Given the description of an element on the screen output the (x, y) to click on. 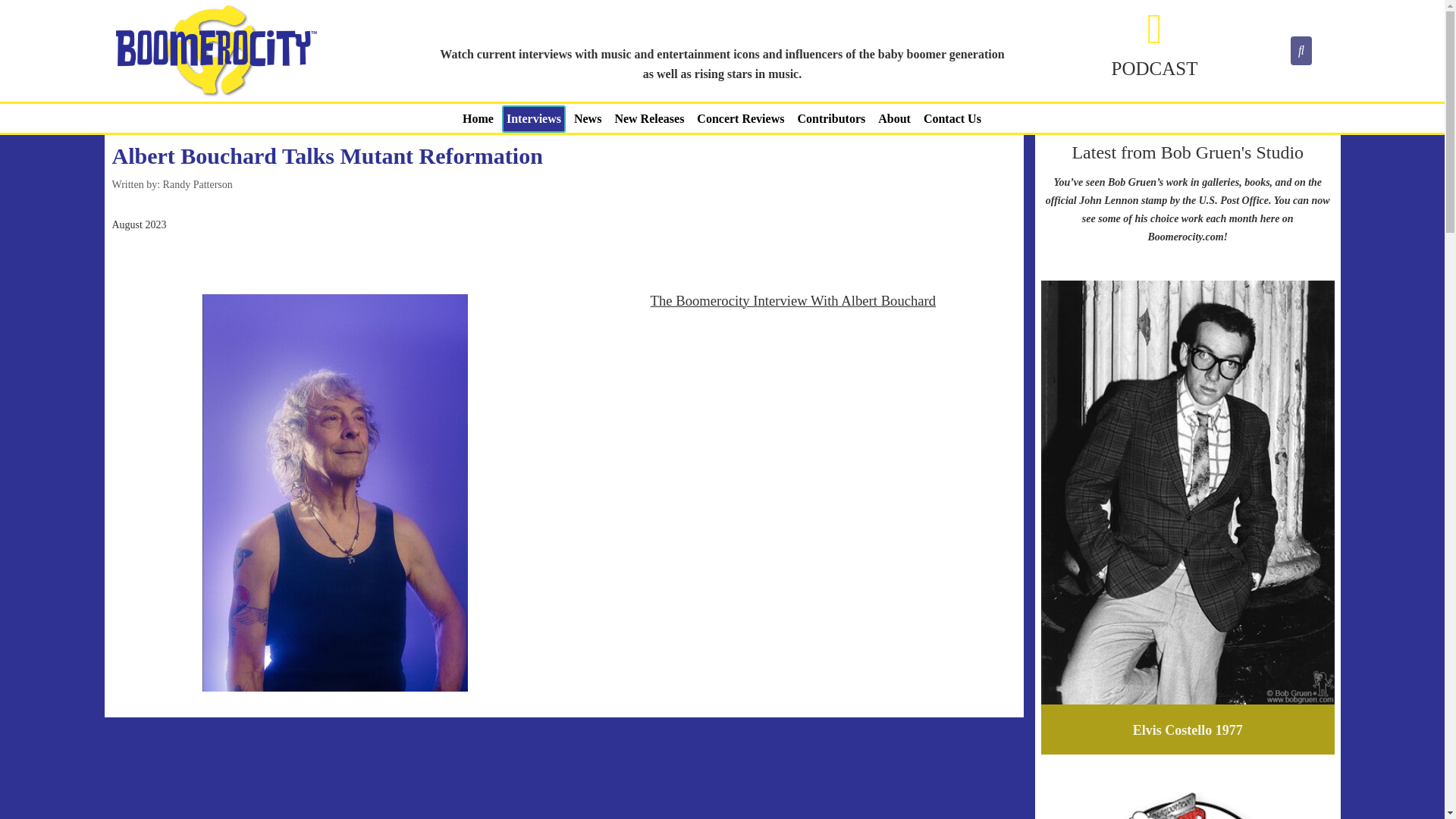
Concert Reviews (741, 118)
New Releases (649, 118)
Elvis Costello 1977 (1187, 729)
About (894, 118)
Contact Us (951, 118)
Home (477, 118)
Interviews (534, 118)
News (587, 118)
